Given the description of an element on the screen output the (x, y) to click on. 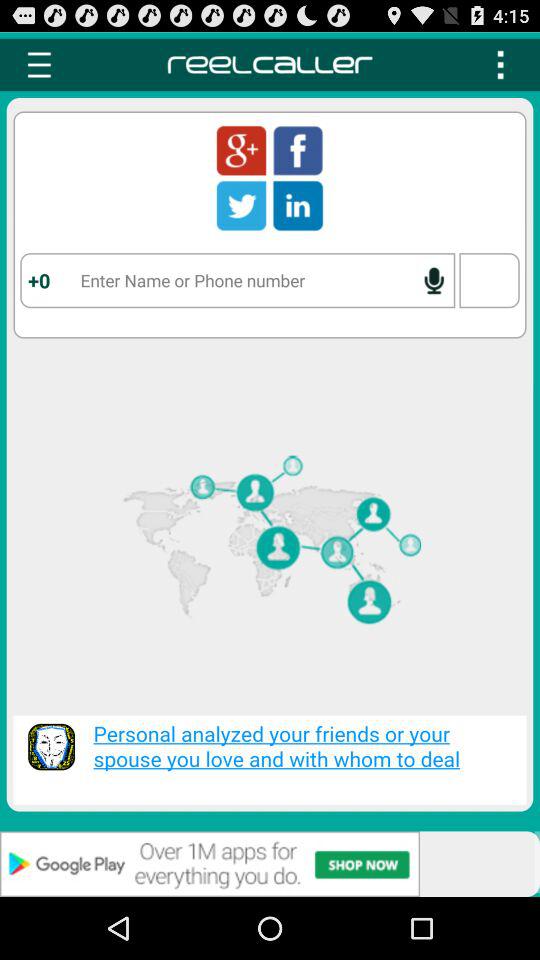
settings icon (39, 64)
